Given the description of an element on the screen output the (x, y) to click on. 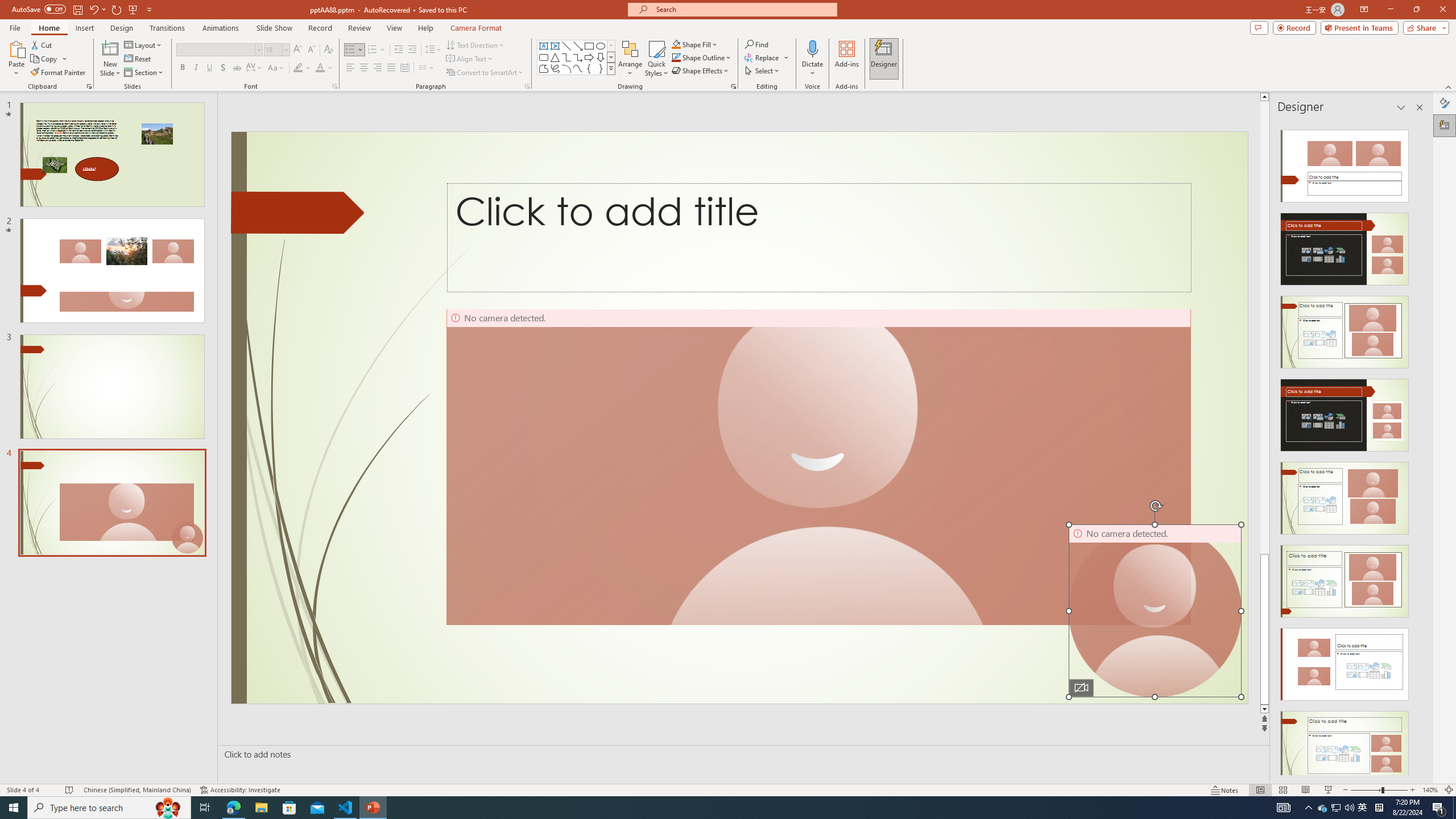
Slide Notes (741, 754)
Vertical Text Box (554, 45)
Format Object... (733, 85)
Design (122, 28)
Italic (195, 67)
Accessibility Checker Accessibility: Investigate (240, 790)
Share (1423, 27)
Bullets (354, 49)
Change Case (276, 67)
Replace... (762, 56)
Present in Teams (1359, 27)
Shape Fill (694, 44)
Page up (1264, 327)
Ribbon Display Options (1364, 9)
From Beginning (133, 9)
